Given the description of an element on the screen output the (x, y) to click on. 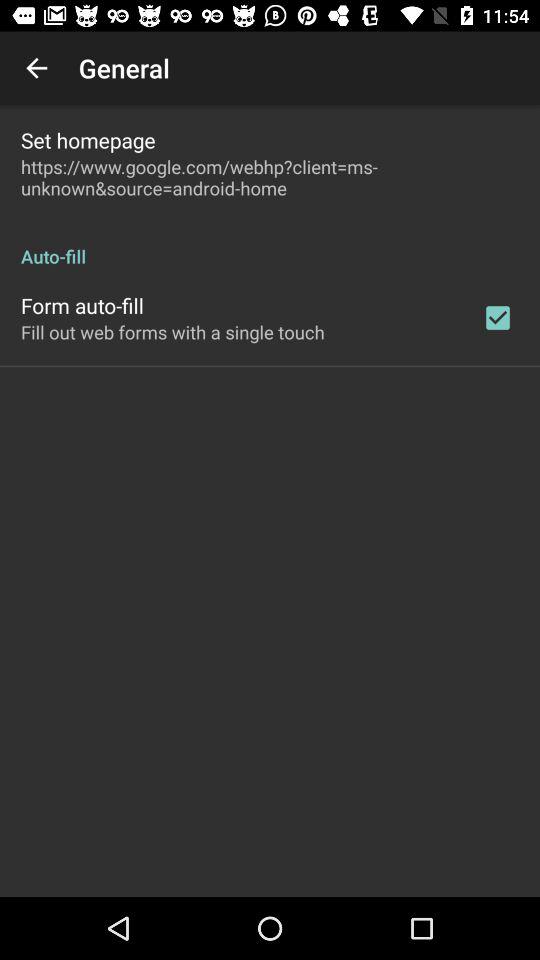
turn off fill out web app (172, 331)
